Given the description of an element on the screen output the (x, y) to click on. 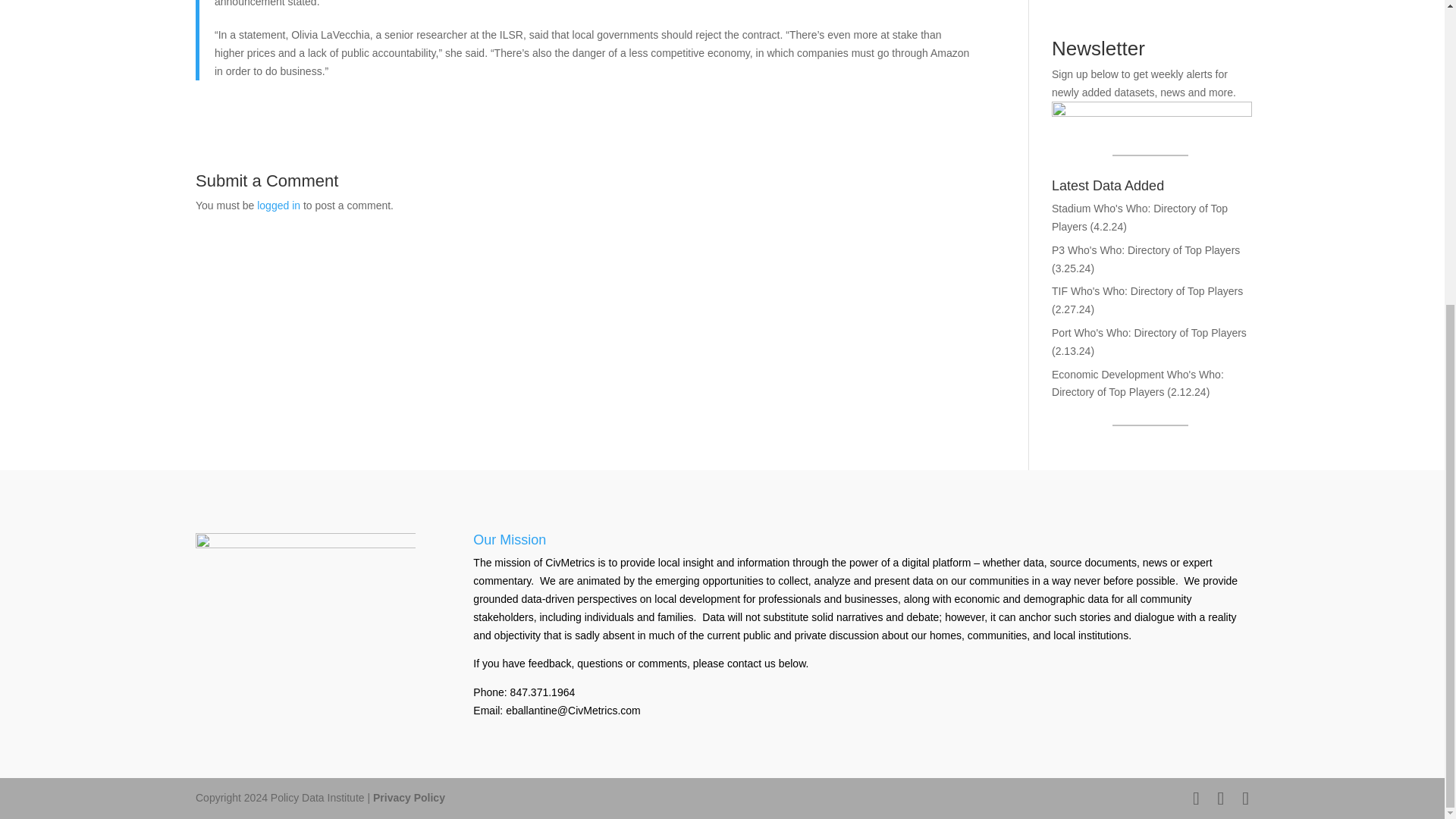
Economic Development Who's Who: Directory of Top Players (1137, 383)
847.371.1964 (543, 692)
Port Who's Who: Directory of Top Players (1148, 332)
P3 Who's Who: Directory of Top Players (1145, 250)
logged in (278, 205)
TIF Who's Who: Directory of Top Players (1147, 291)
Privacy Policy (408, 797)
Stadium Who's Who: Directory of Top Players (1139, 217)
